Given the description of an element on the screen output the (x, y) to click on. 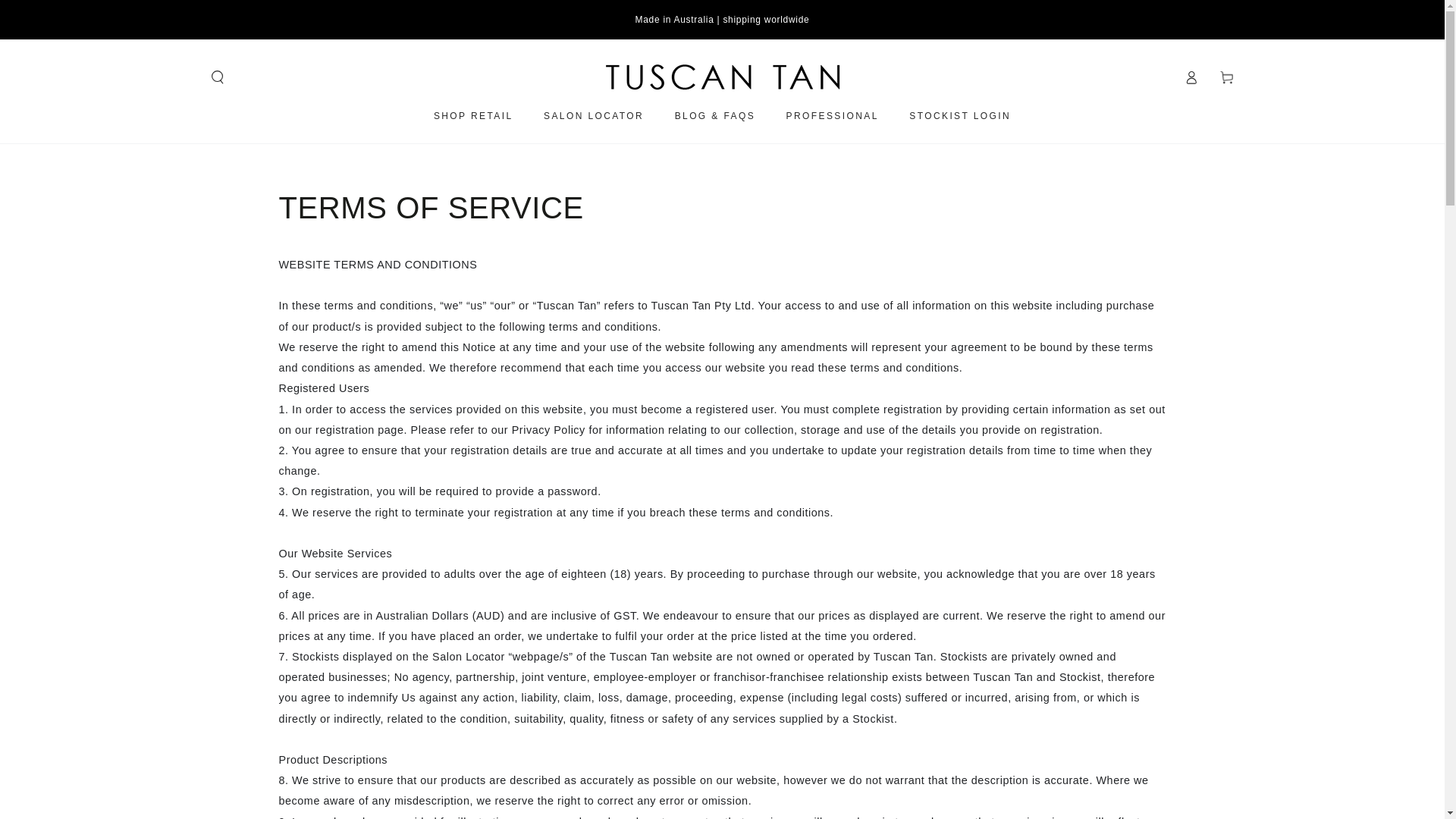
SKIP TO CONTENT (61, 13)
SHOP RETAIL (472, 115)
SALON LOCATOR (593, 115)
STOCKIST LOGIN (960, 115)
Log in (1190, 77)
PROFESSIONAL (832, 115)
